Given the description of an element on the screen output the (x, y) to click on. 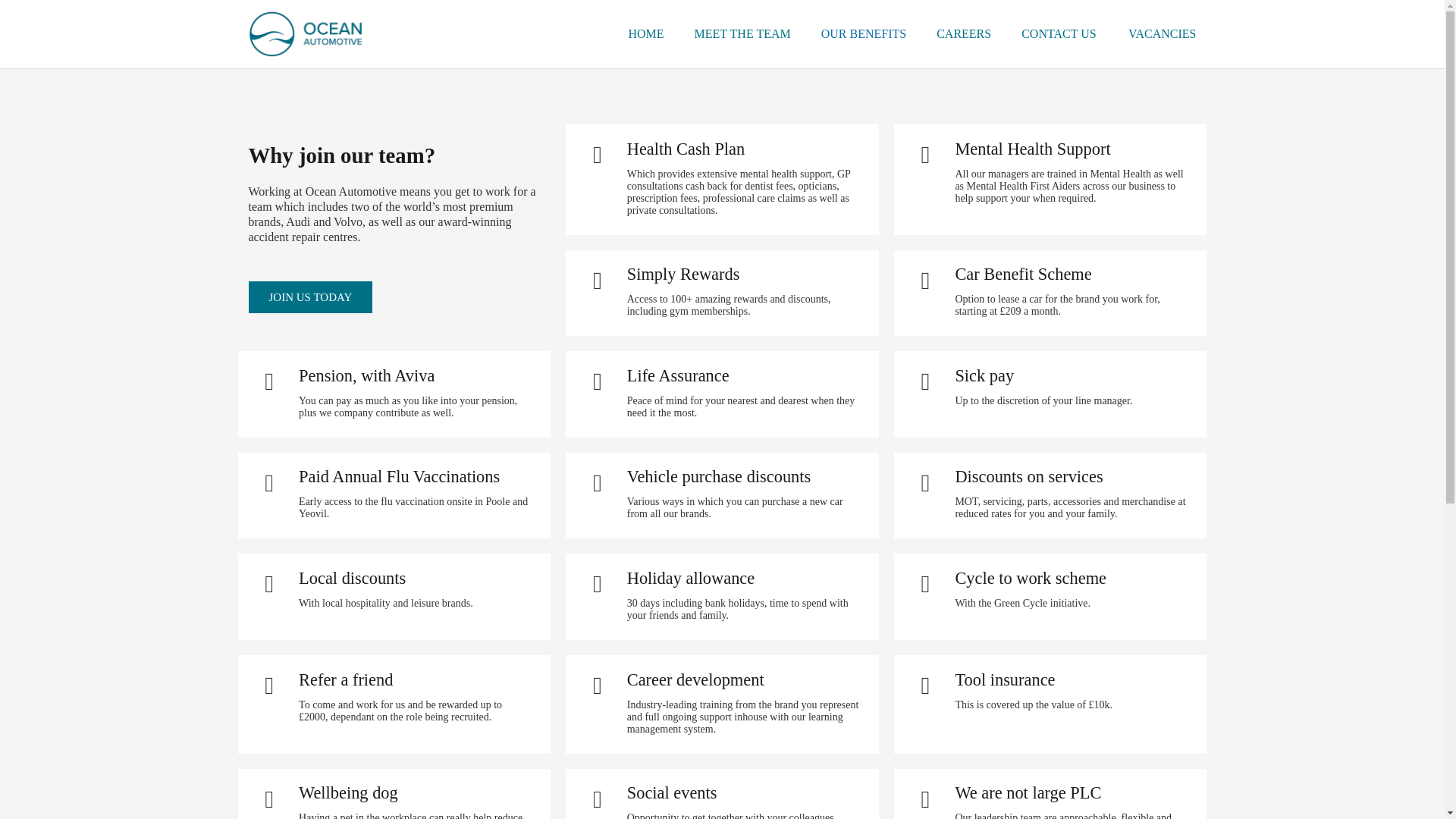
VACANCIES (1162, 33)
CONTACT US (1058, 33)
JOIN US TODAY (310, 296)
CAREERS (963, 33)
HOME (645, 33)
MEET THE TEAM (742, 33)
OUR BENEFITS (863, 33)
